Given the description of an element on the screen output the (x, y) to click on. 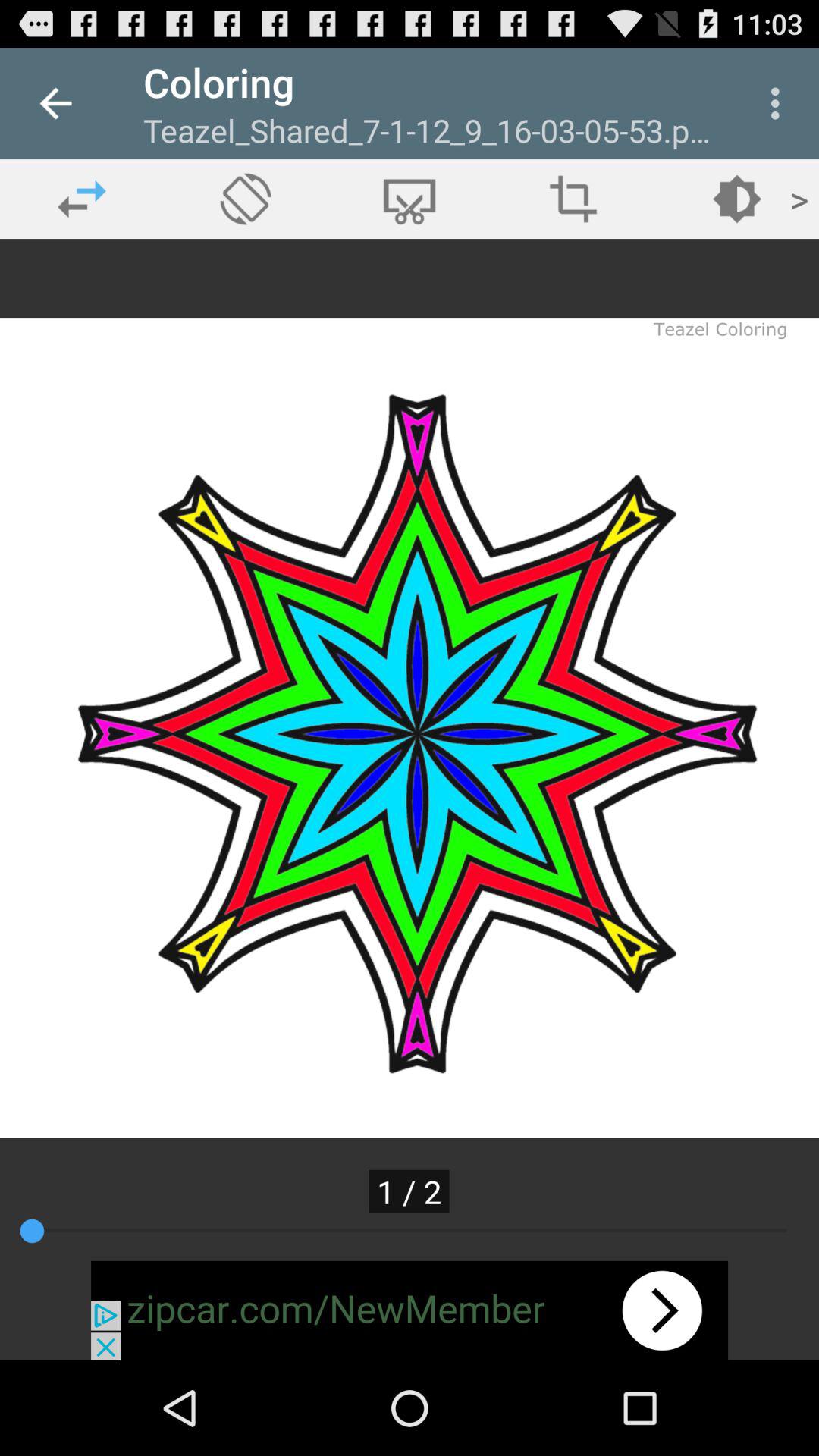
go to call (245, 198)
